Given the description of an element on the screen output the (x, y) to click on. 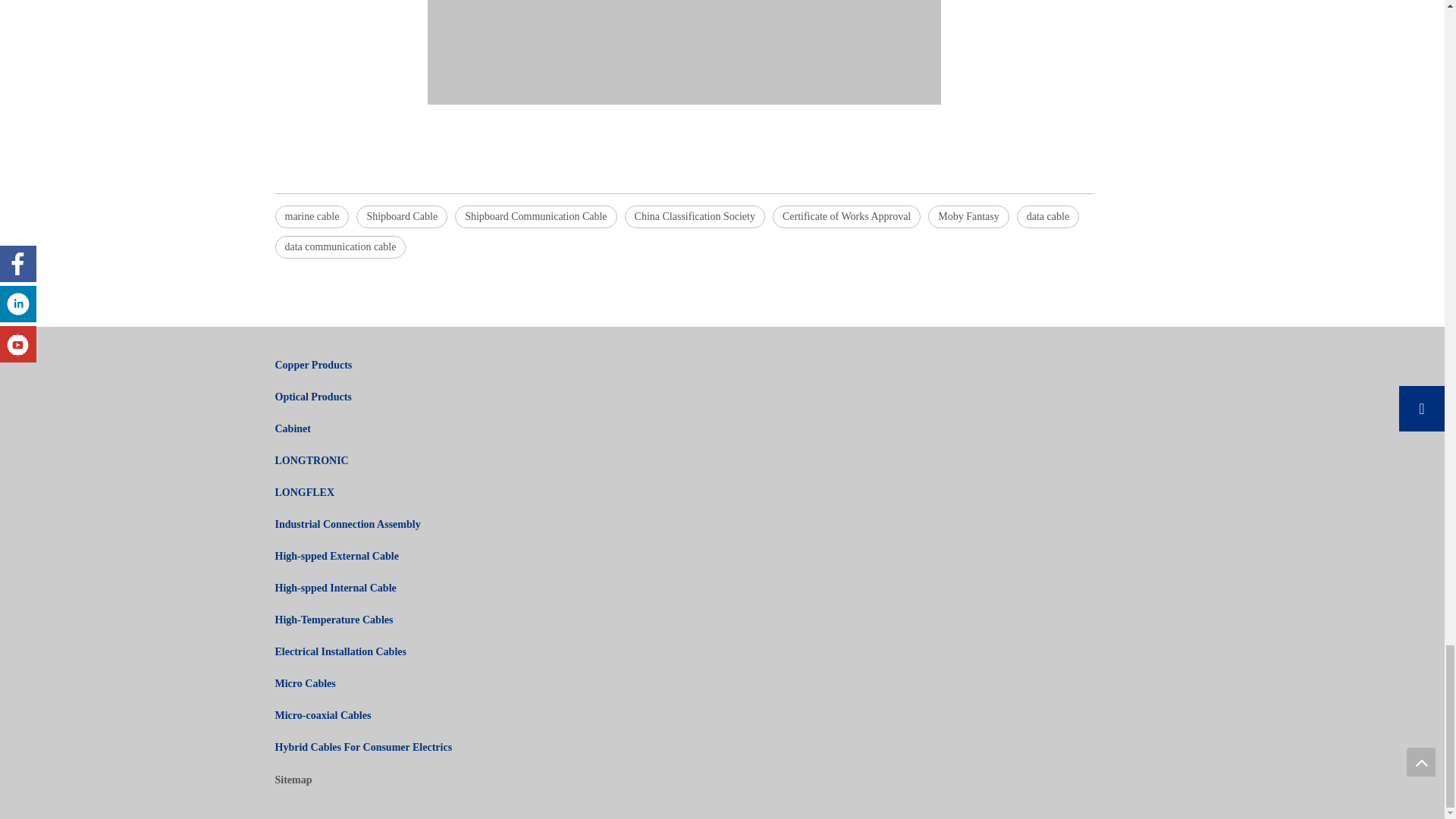
Cabinet (292, 428)
High-spped External Cable (336, 555)
High-spped Internal Cable (335, 587)
Certificate of Works Approval (846, 216)
marine cable (312, 216)
LONGFLEX (304, 491)
data cable (1047, 216)
Shipboard Cable (401, 216)
Copper Products (313, 365)
Shipboard Communication Cable (534, 216)
